Given the description of an element on the screen output the (x, y) to click on. 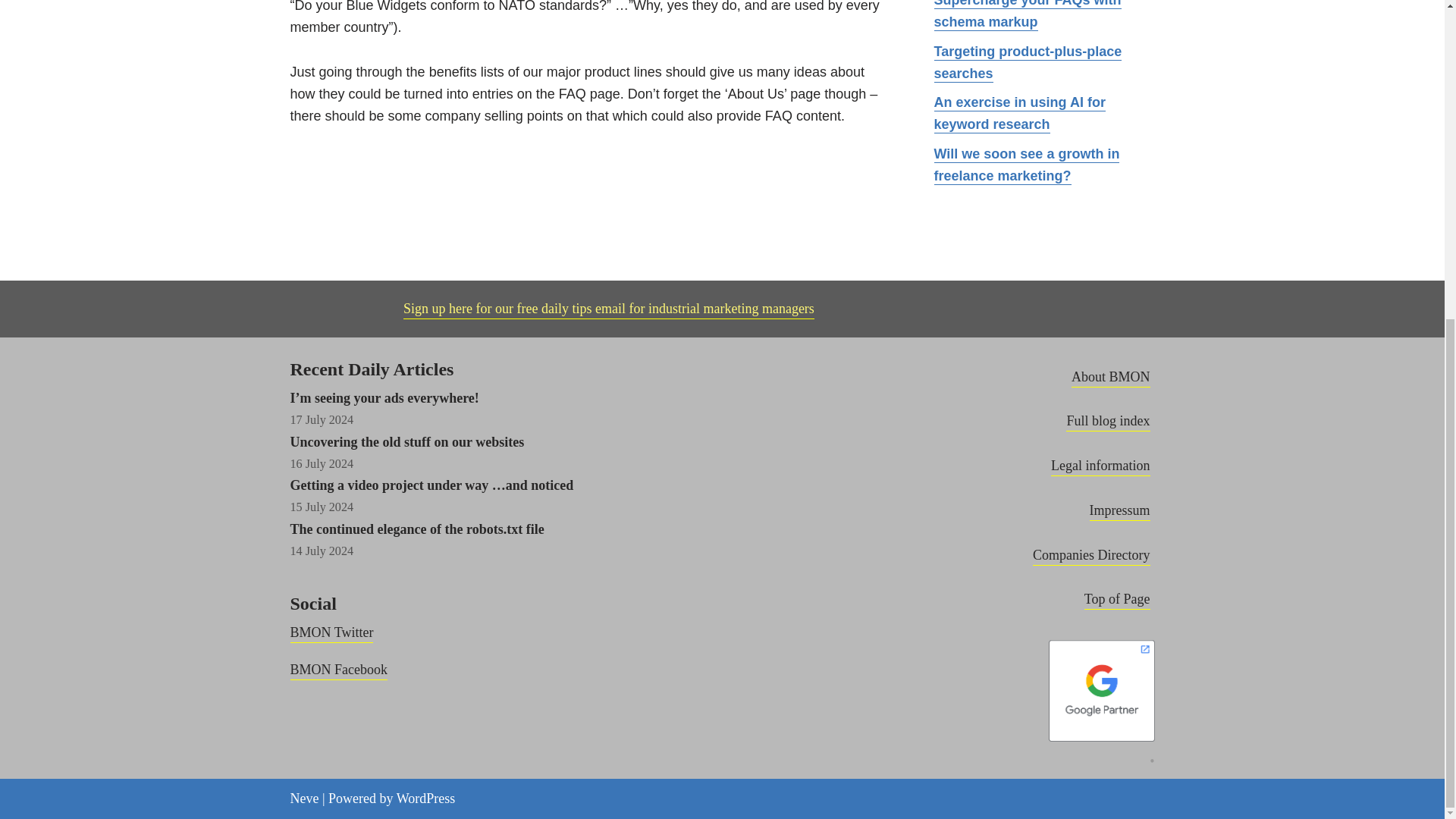
Will we soon see a growth in freelance marketing? (1026, 165)
Legal information (1100, 466)
Companies Directory (1091, 556)
Top of Page (1117, 600)
Impressum (1119, 511)
Full blog index (1107, 422)
The continued elegance of the robots.txt file (416, 529)
Targeting product-plus-place searches (1028, 63)
Uncovering the old stuff on our websites (406, 441)
An exercise in using AI for keyword research (1019, 114)
BMON Facebook (338, 670)
Supercharge your FAQs with schema markup (1027, 15)
BMON Twitter (330, 633)
About BMON (1110, 377)
